Given the description of an element on the screen output the (x, y) to click on. 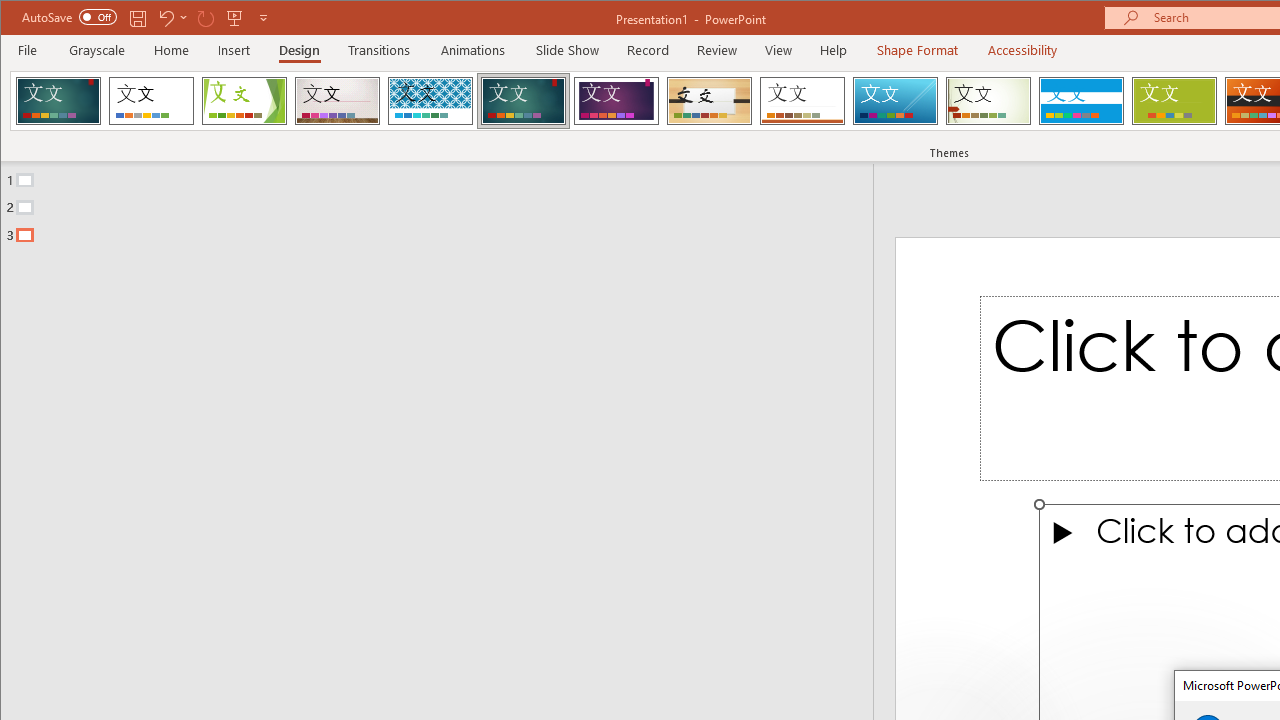
Ion (523, 100)
Slice (895, 100)
Office Theme (151, 100)
Retrospect (802, 100)
Facet (244, 100)
Banded (1081, 100)
